Given the description of an element on the screen output the (x, y) to click on. 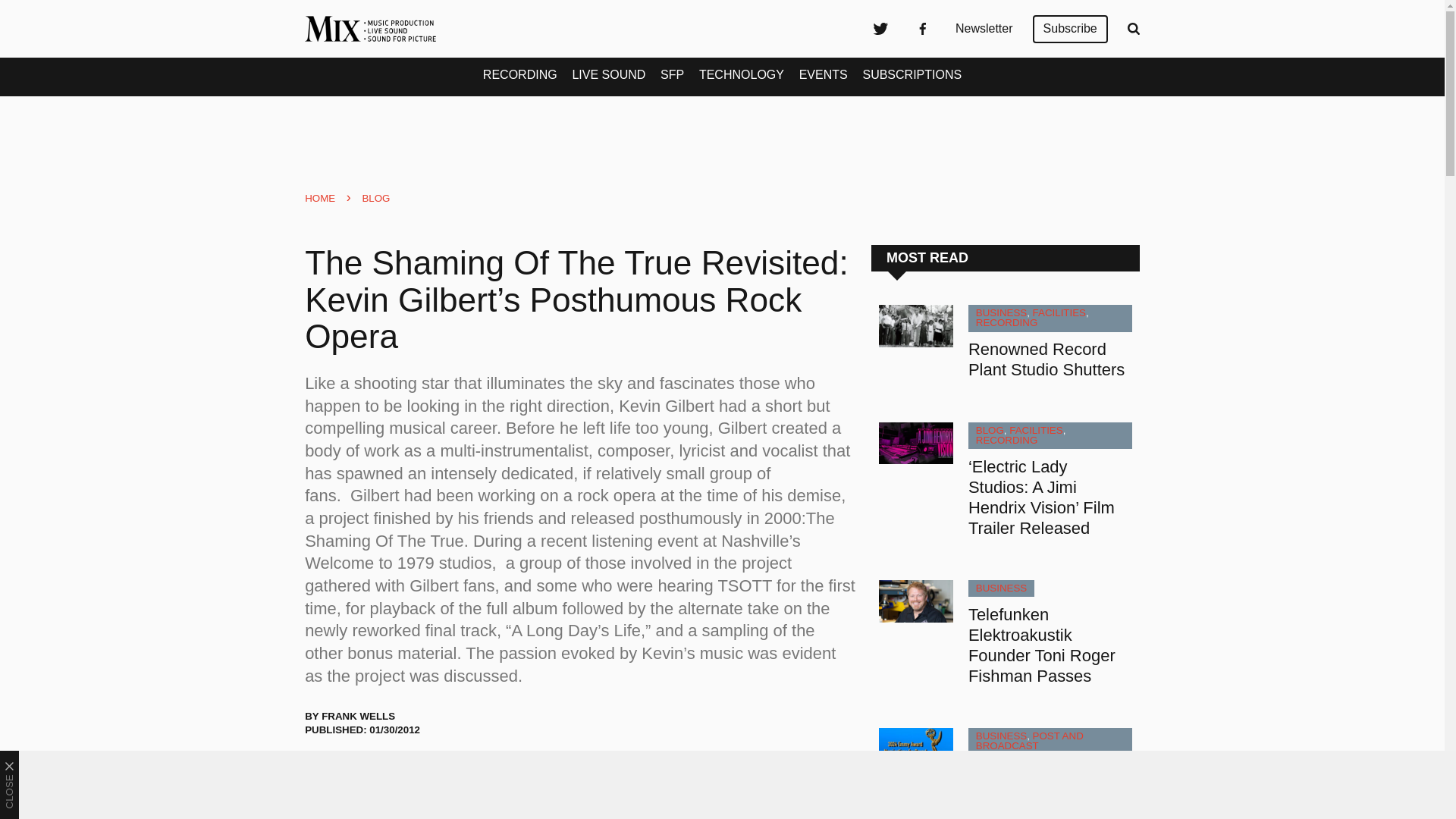
Share via Email (438, 771)
Share on LinkedIn (399, 771)
Share on Twitter (323, 771)
Share on Facebook (361, 771)
